Given the description of an element on the screen output the (x, y) to click on. 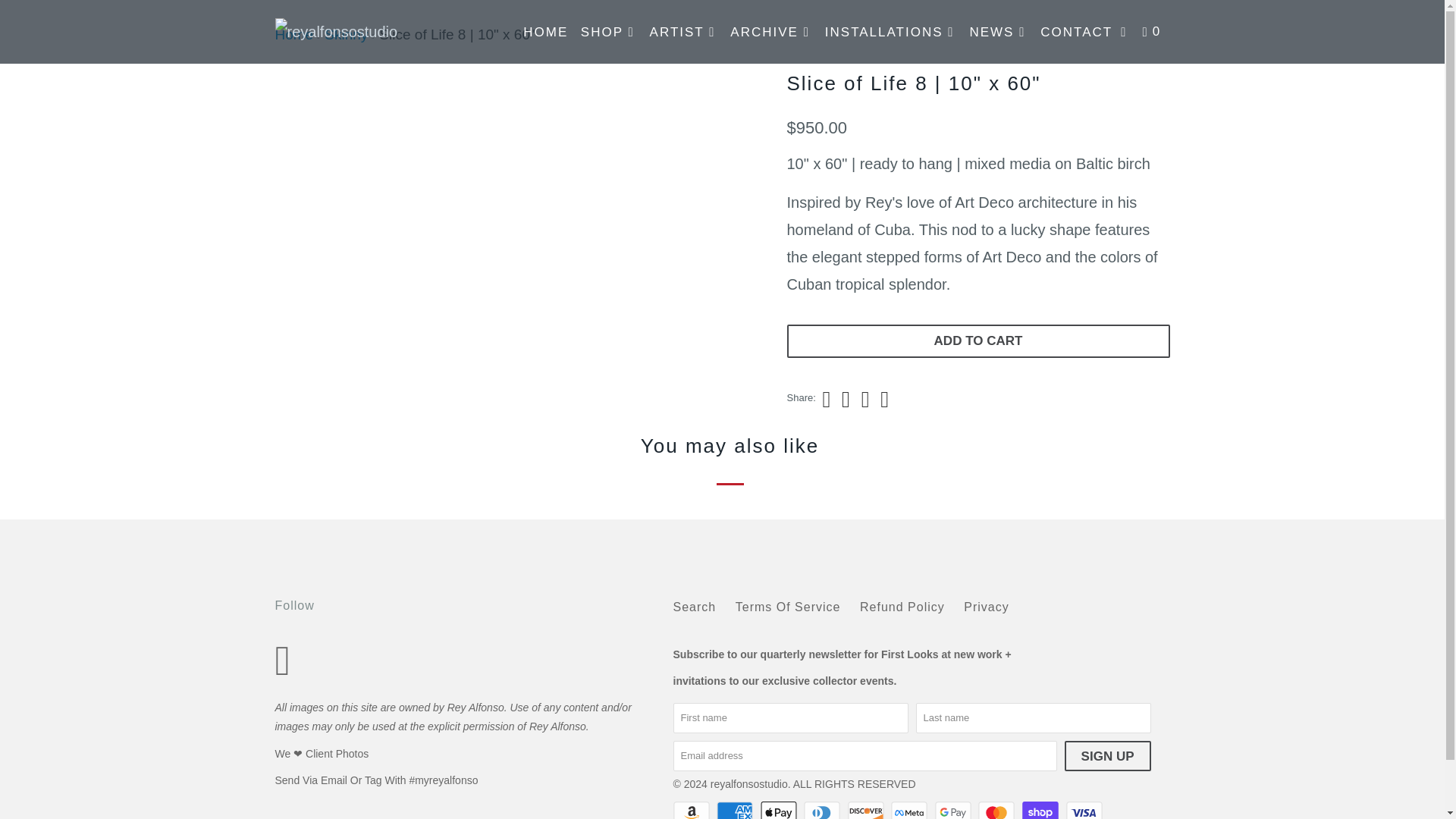
Meta Pay (910, 810)
Visa (1085, 810)
HOME (544, 31)
SHOP (609, 31)
Diners Club (823, 810)
American Express (735, 810)
reyalfonsostudio (352, 31)
reyalfonsostudio (294, 34)
Amazon (692, 810)
Sign Up (1107, 756)
Skinny (346, 34)
Discover (866, 810)
Shop Pay (1041, 810)
Google Pay (954, 810)
Apple Pay (779, 810)
